Given the description of an element on the screen output the (x, y) to click on. 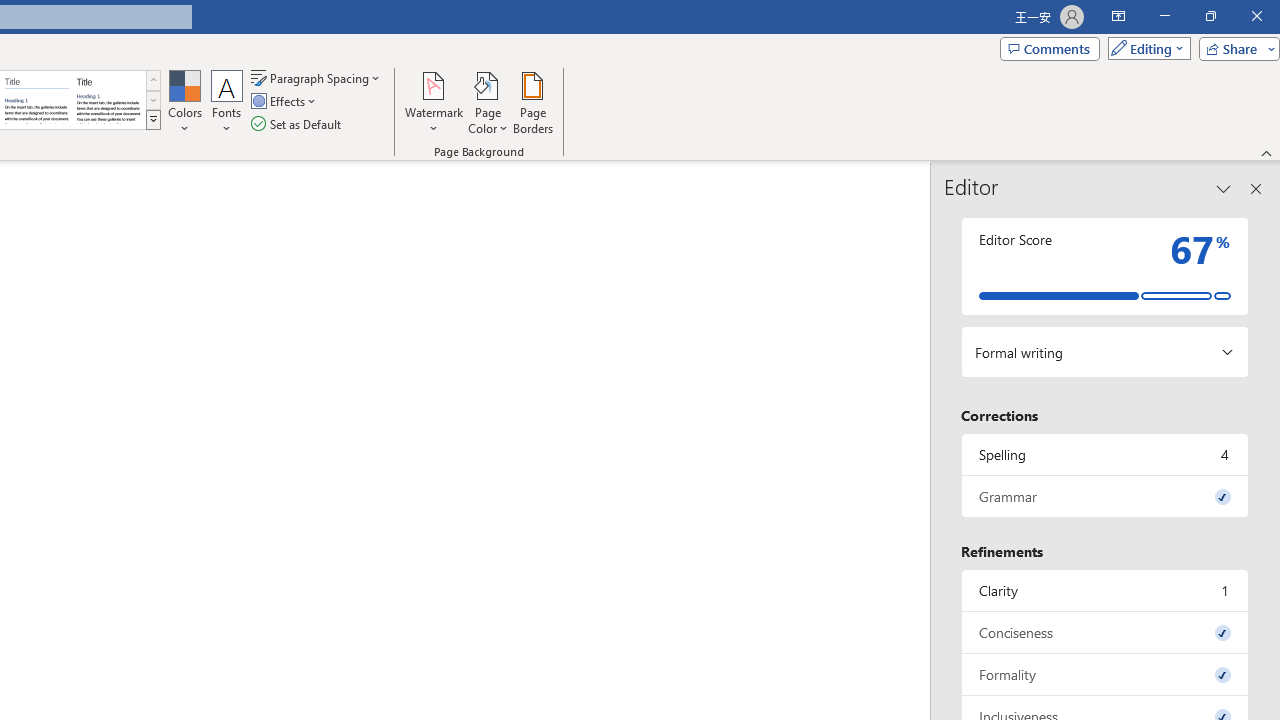
Page Color (487, 102)
Restore Down (1210, 16)
Row up (153, 79)
Minimize (1164, 16)
Effects (285, 101)
Paragraph Spacing (317, 78)
Ribbon Display Options (1118, 16)
Close pane (1256, 188)
Conciseness, 0 issues. Press space or enter to review items. (1105, 632)
Watermark (434, 102)
Style Set (153, 120)
Task Pane Options (1224, 188)
Formality, 0 issues. Press space or enter to review items. (1105, 673)
Row Down (153, 100)
Fonts (227, 102)
